Given the description of an element on the screen output the (x, y) to click on. 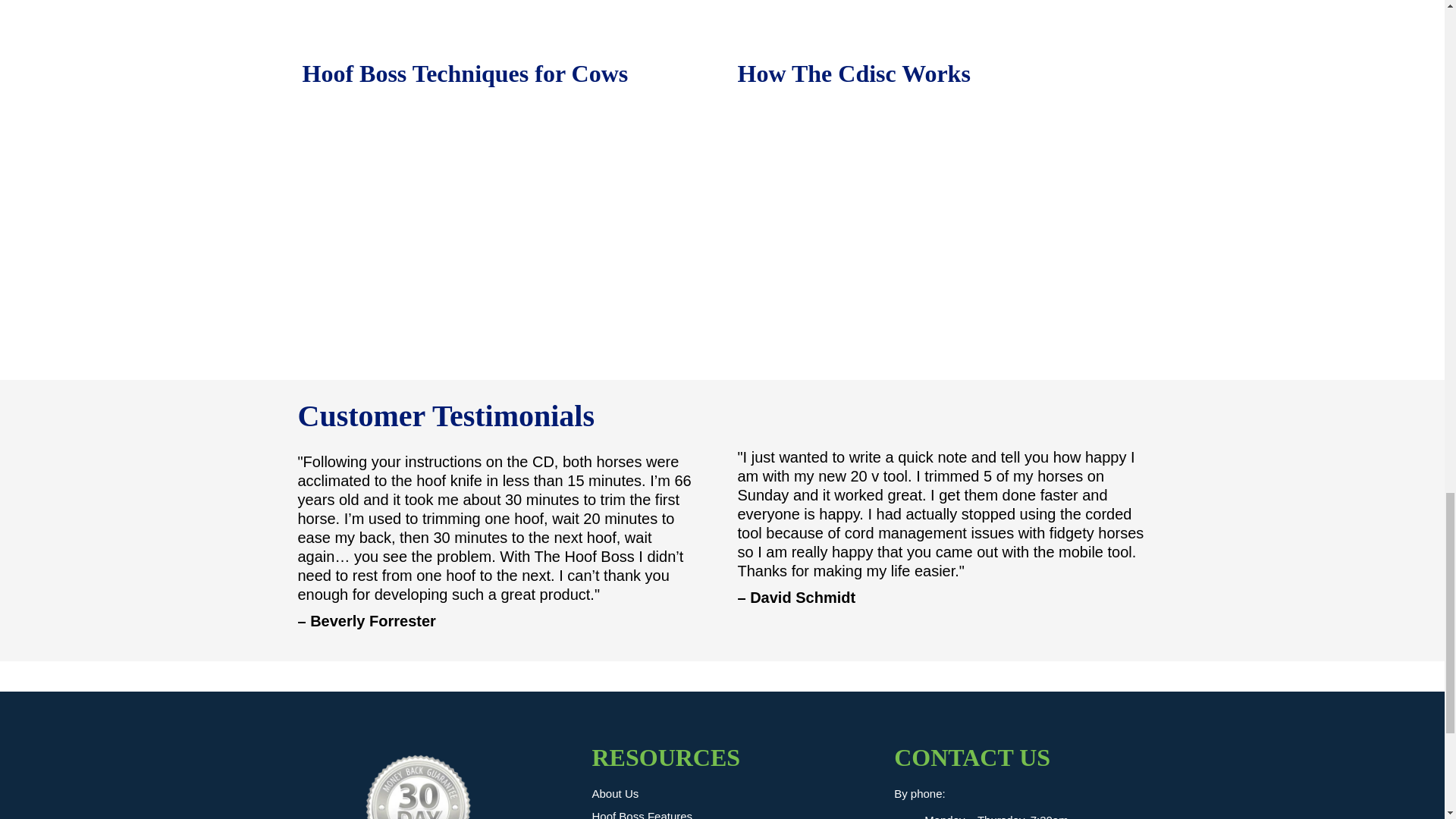
Hoof Boss Techniques for Cows (503, 225)
Hoof Boss (416, 785)
How and Why the Cdisc Works (938, 225)
